Given the description of an element on the screen output the (x, y) to click on. 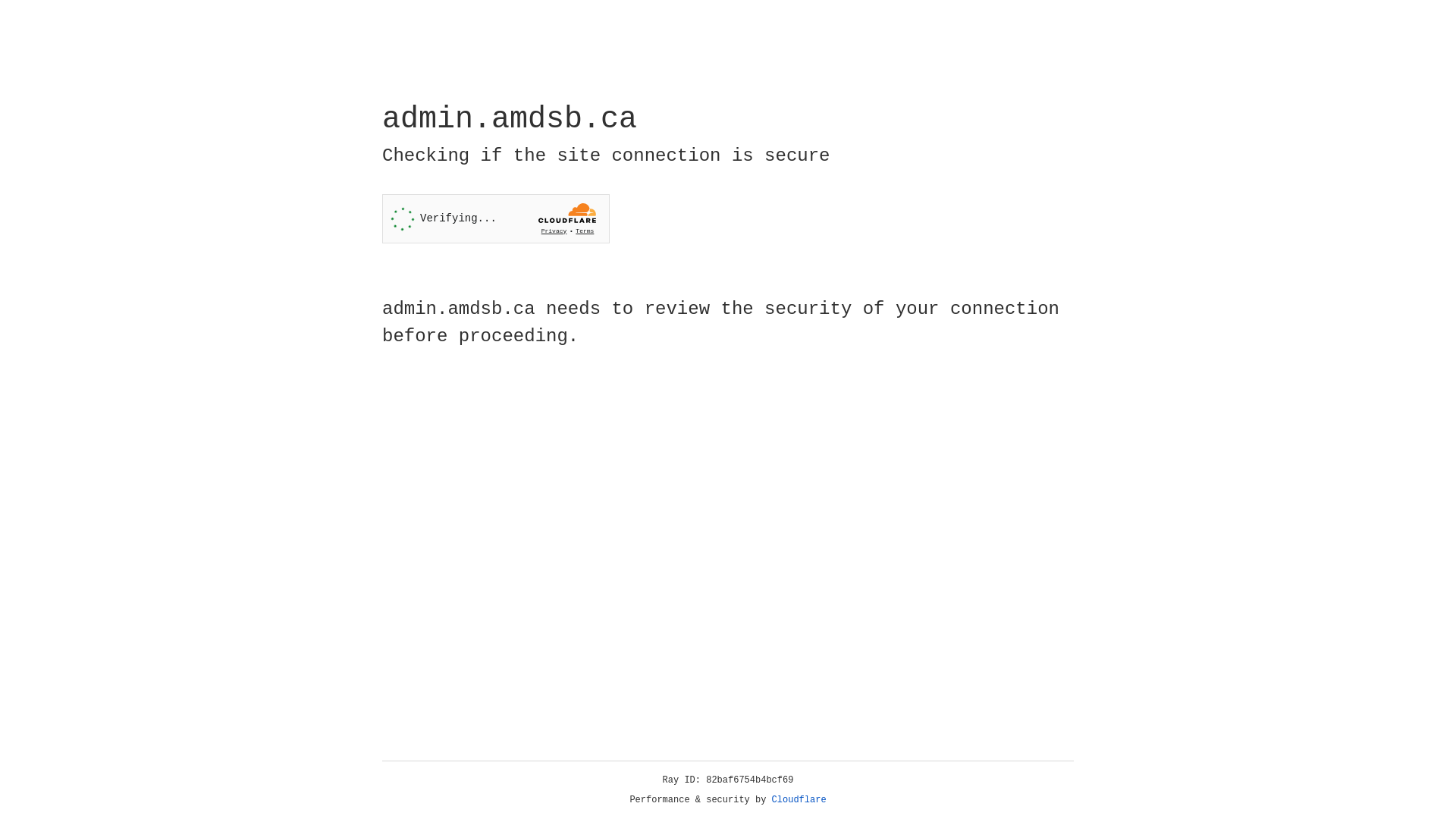
Cloudflare Element type: text (798, 799)
Widget containing a Cloudflare security challenge Element type: hover (495, 218)
